Given the description of an element on the screen output the (x, y) to click on. 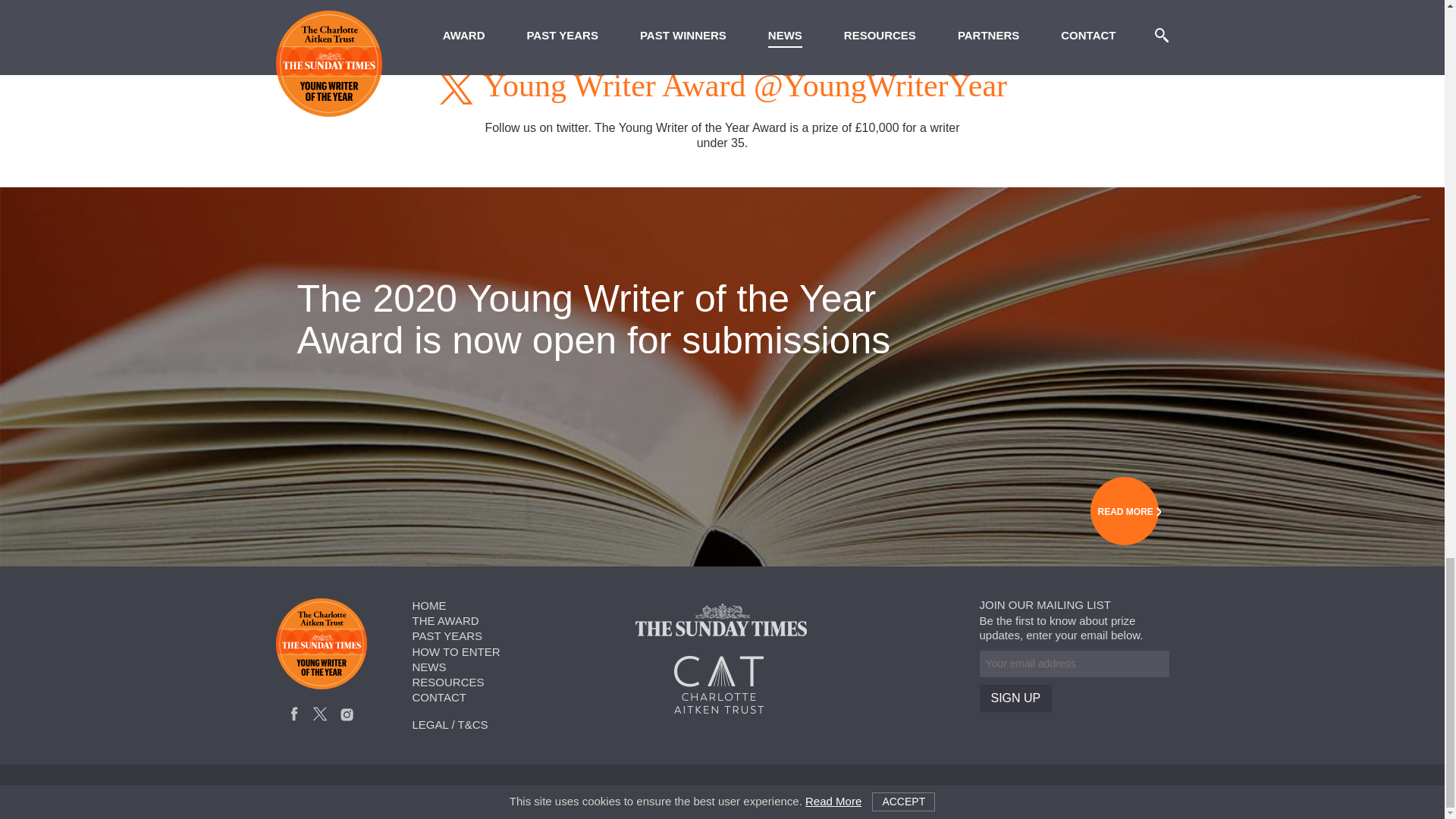
Sign up (1015, 697)
